Given the description of an element on the screen output the (x, y) to click on. 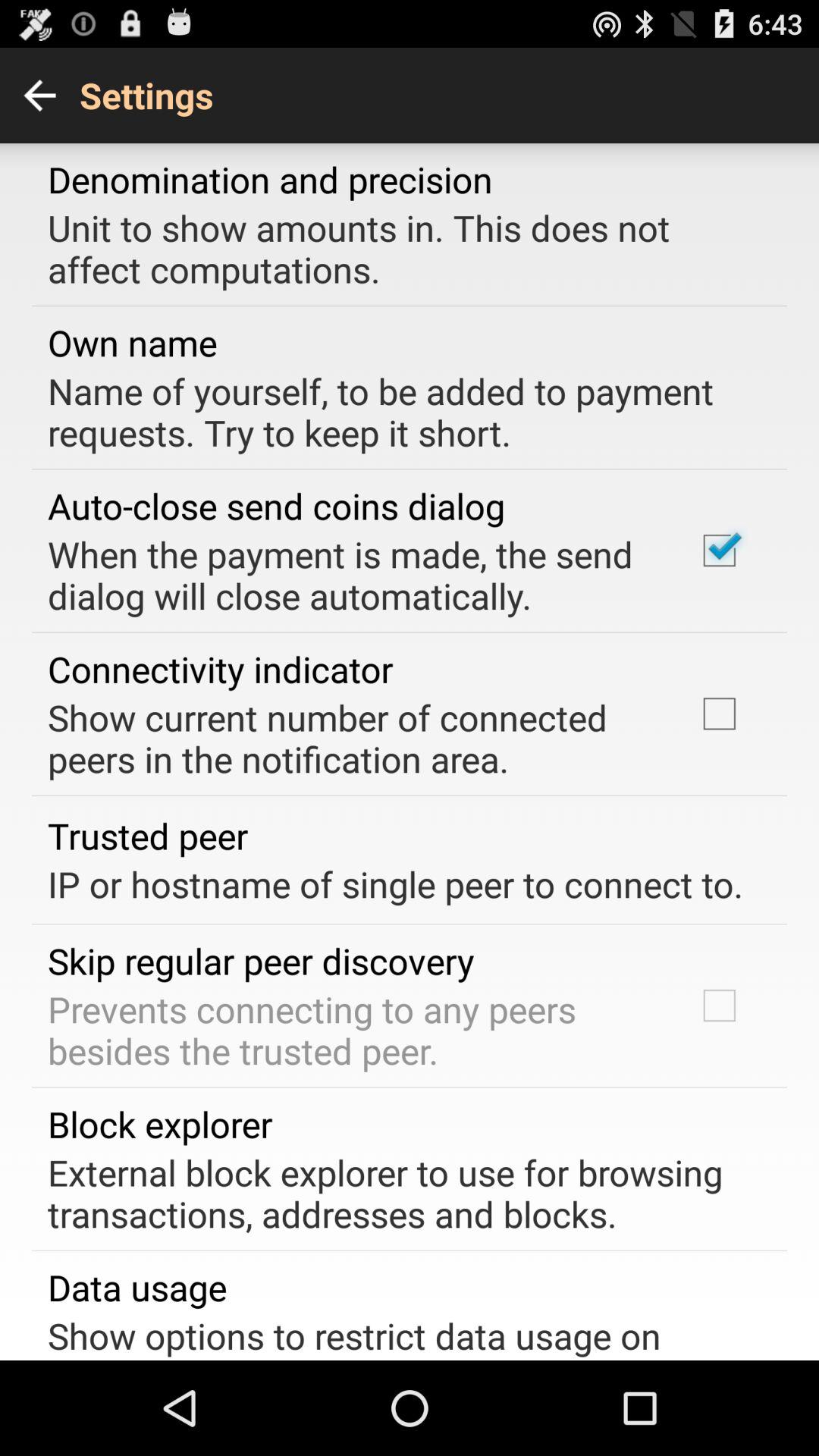
scroll until the name of yourself (399, 411)
